Given the description of an element on the screen output the (x, y) to click on. 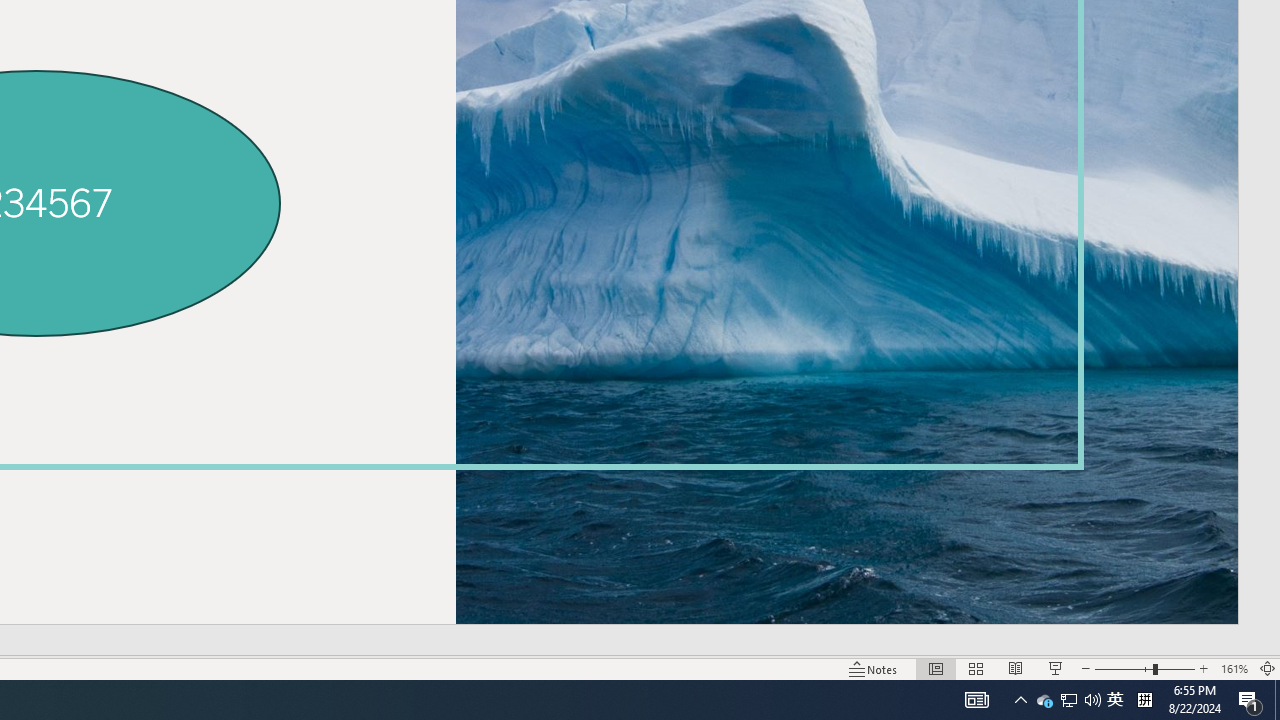
Zoom Out (1115, 699)
Tray Input Indicator - Chinese (Simplified, China) (1123, 668)
Action Center, 1 new notification (1144, 699)
